Given the description of an element on the screen output the (x, y) to click on. 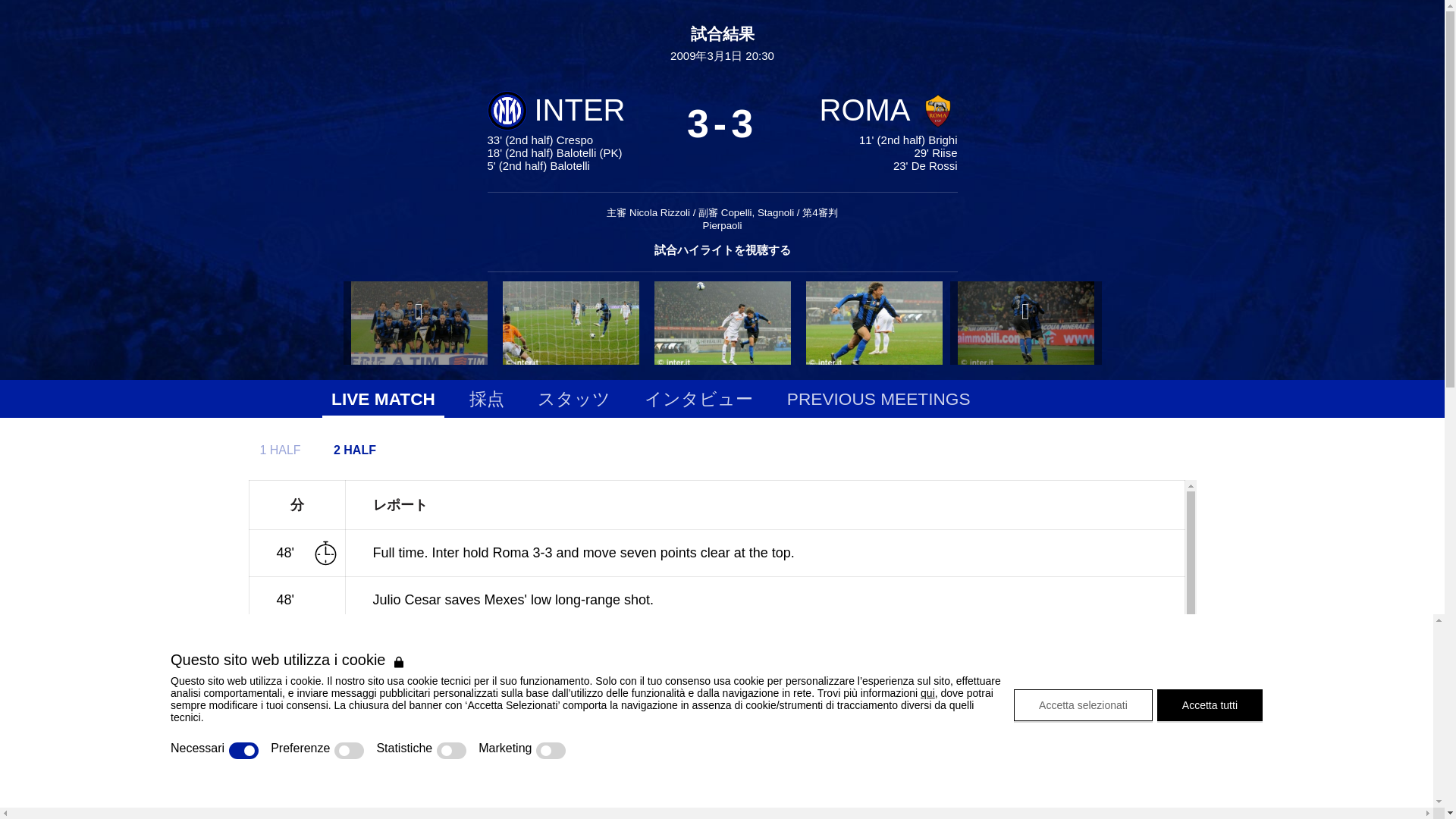
qui (927, 693)
Accetta tutti (1209, 704)
Accetta selezionati (1083, 704)
